Given the description of an element on the screen output the (x, y) to click on. 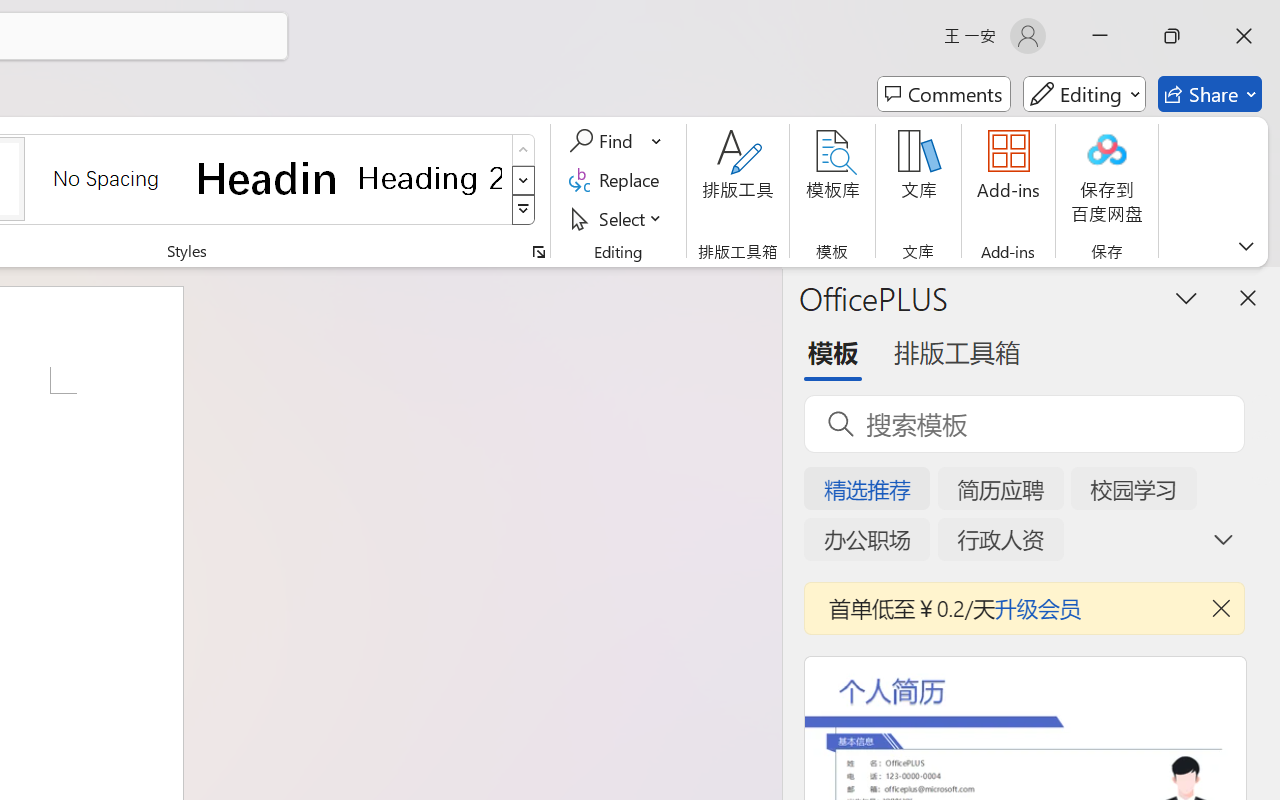
Close (1244, 36)
Minimize (1099, 36)
Find (604, 141)
Share (1210, 94)
Replace... (617, 179)
Ribbon Display Options (1246, 245)
Select (618, 218)
Heading 2 (429, 178)
Task Pane Options (1186, 297)
Styles... (538, 252)
More Options (657, 141)
